Given the description of an element on the screen output the (x, y) to click on. 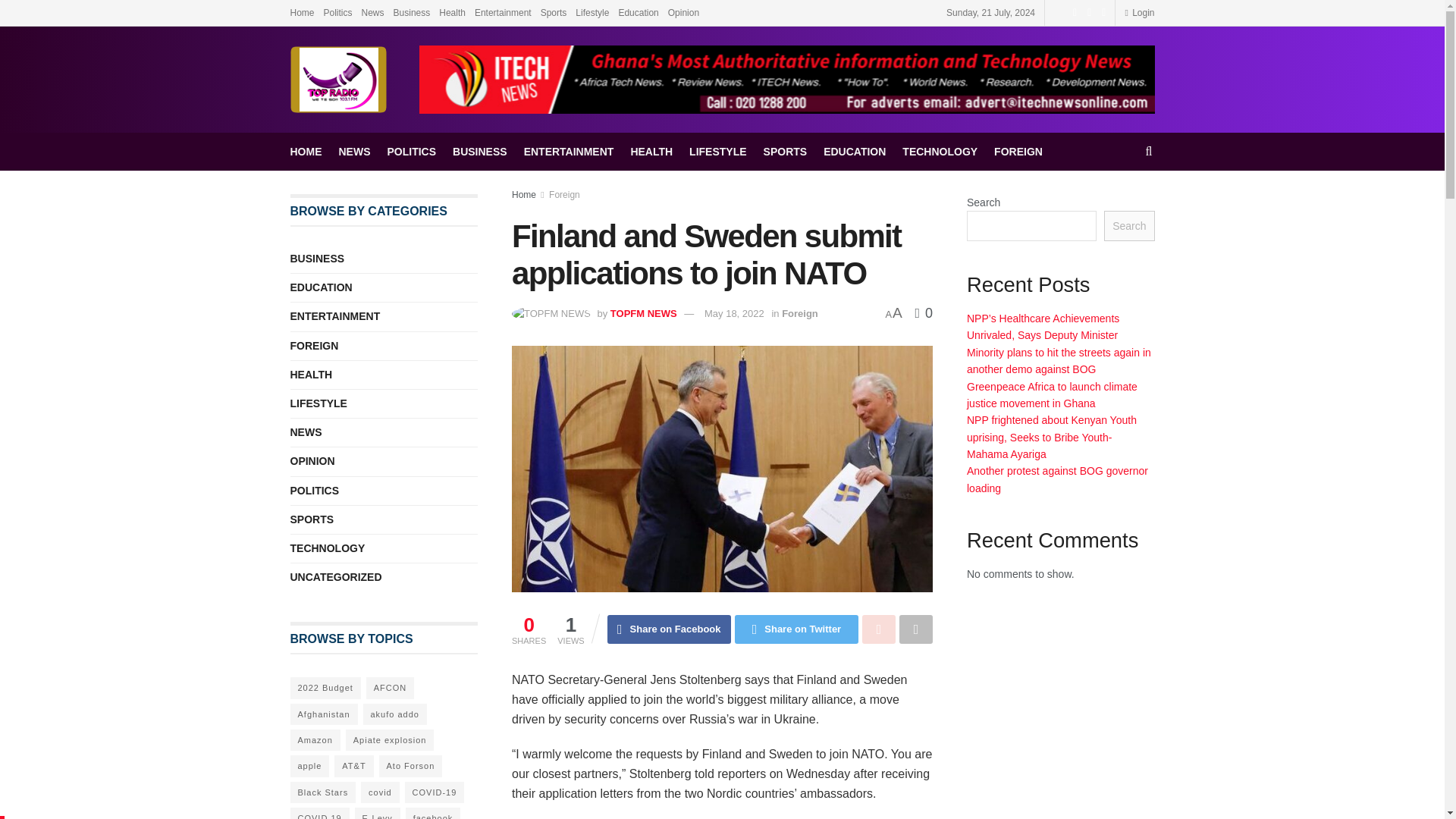
SPORTS (785, 151)
TOPFM NEWS (643, 313)
ENTERTAINMENT (569, 151)
Education (637, 12)
Opinion (683, 12)
Home (301, 12)
HEALTH (651, 151)
Lifestyle (591, 12)
FOREIGN (1018, 151)
TECHNOLOGY (939, 151)
LIFESTYLE (716, 151)
Foreign (563, 194)
Foreign (799, 313)
Sports (553, 12)
Politics (337, 12)
